Given the description of an element on the screen output the (x, y) to click on. 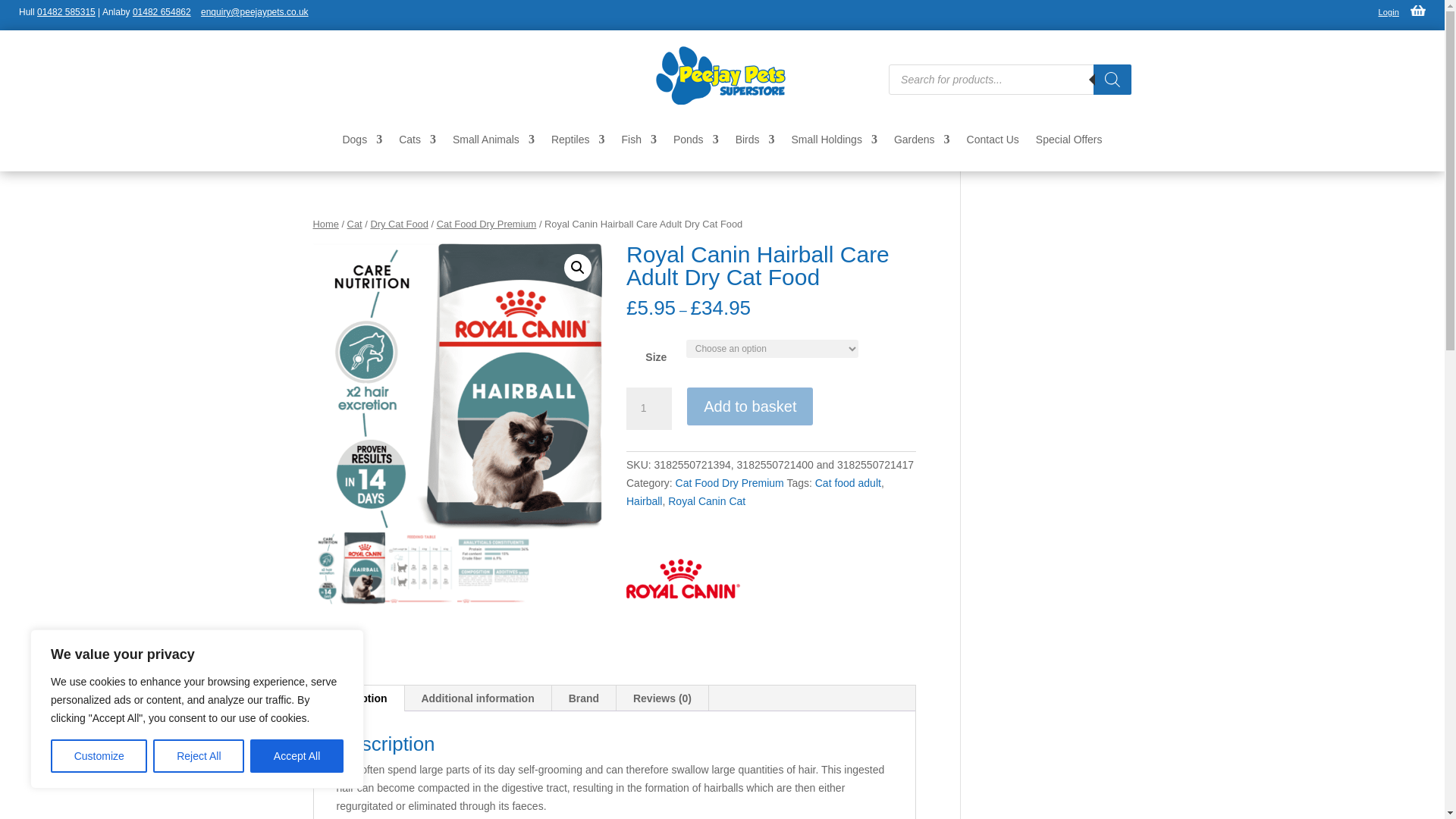
peejay-pets-superstore-80 (722, 75)
Cats (416, 142)
RC Cat Hairball 1.0 (457, 388)
1 (648, 408)
Reject All (198, 756)
Royal Canin (682, 581)
My Basket (1417, 13)
01482 654862 (161, 11)
01482 585315 (66, 11)
Dogs (361, 142)
Login (1388, 11)
Accept All (296, 756)
Customize (98, 756)
